Given the description of an element on the screen output the (x, y) to click on. 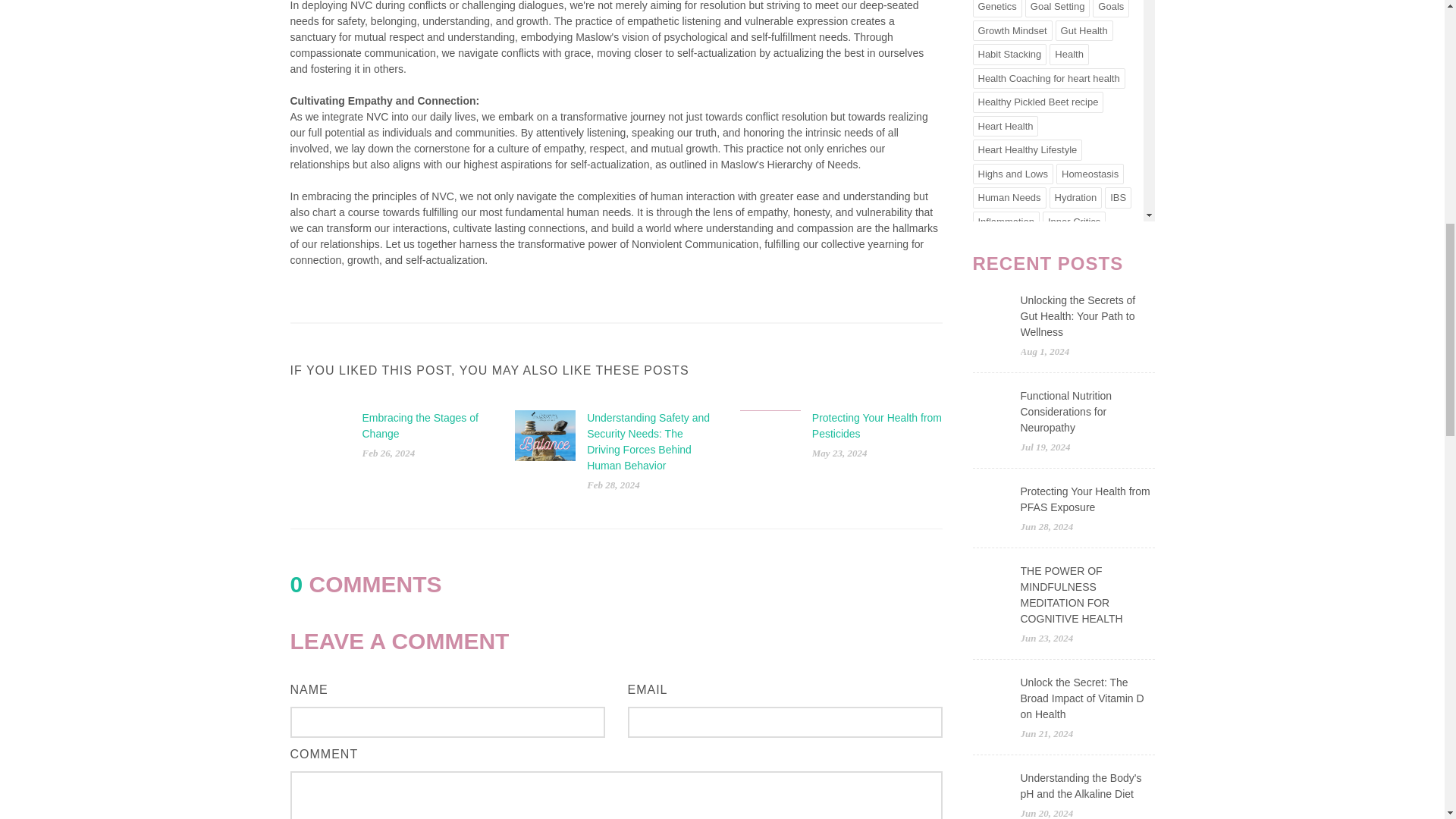
Feb 28, 2024 (613, 484)
Feb 26, 2024 (388, 452)
May 23, 2024 (839, 452)
Embracing the Stages of Change (420, 425)
Protecting Your Health from Pesticides (877, 425)
